Given the description of an element on the screen output the (x, y) to click on. 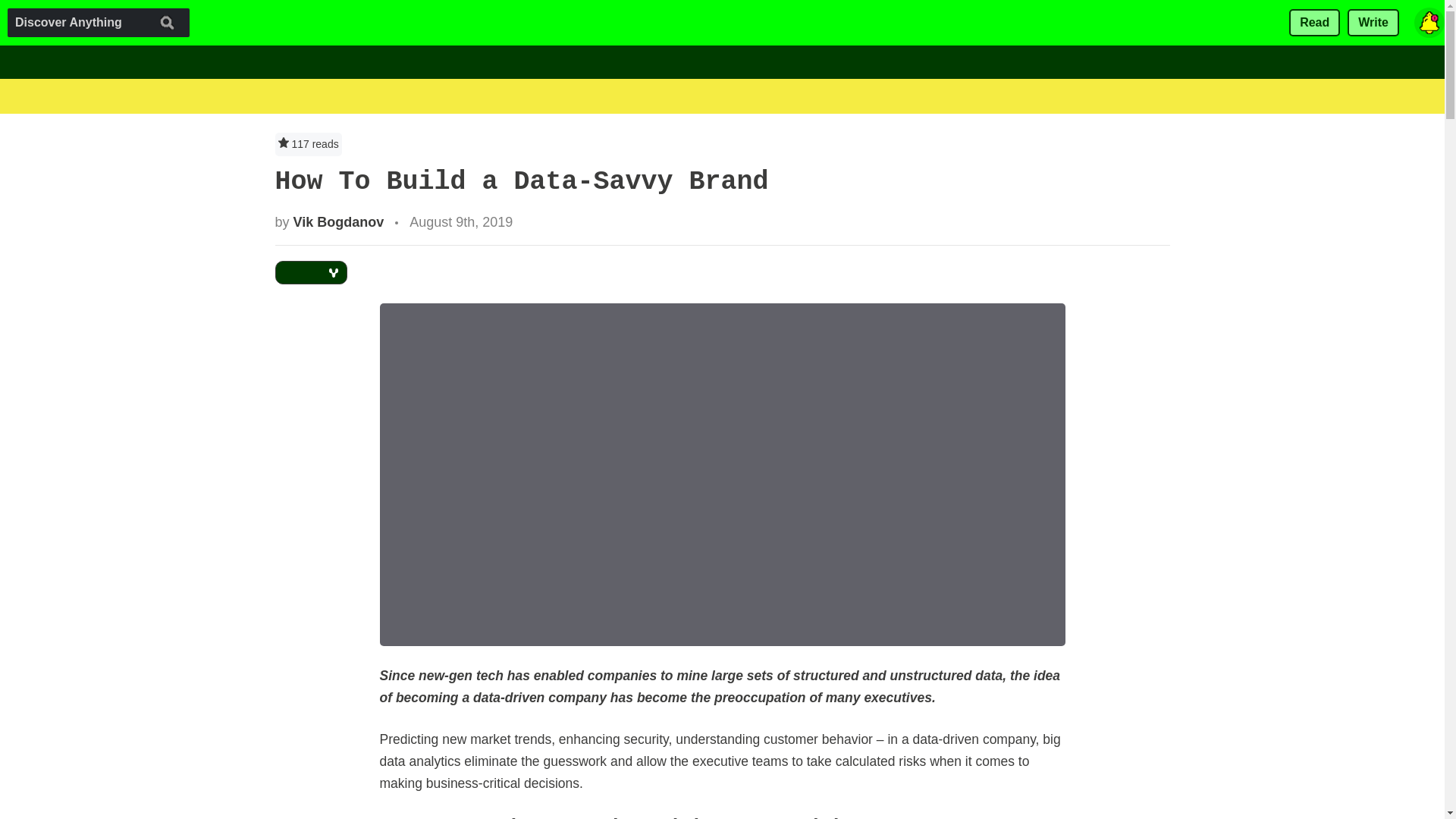
Read (1313, 22)
Write (1373, 22)
Vik Bogdanov (339, 222)
